Given the description of an element on the screen output the (x, y) to click on. 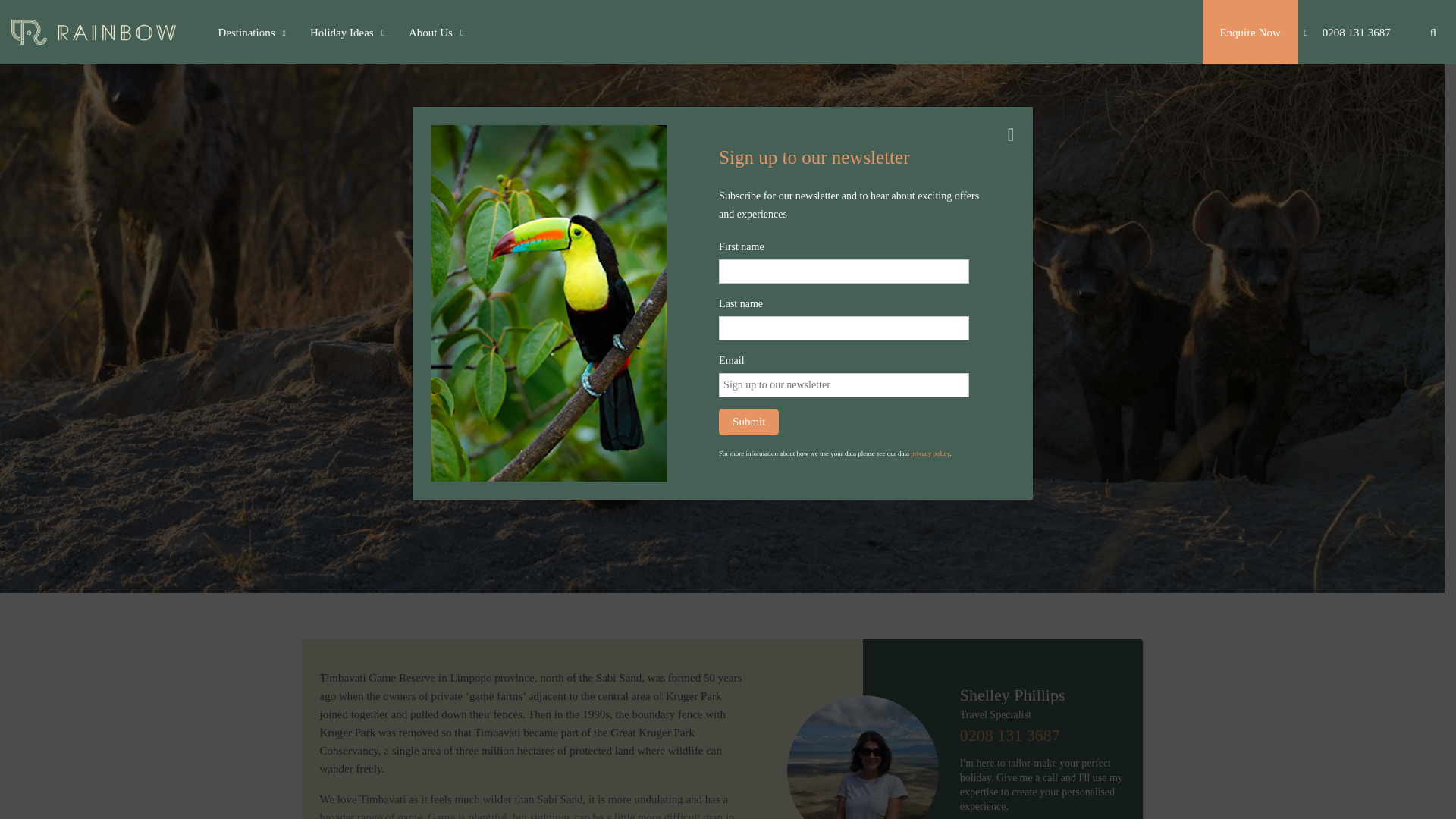
Destinations (251, 32)
